Given the description of an element on the screen output the (x, y) to click on. 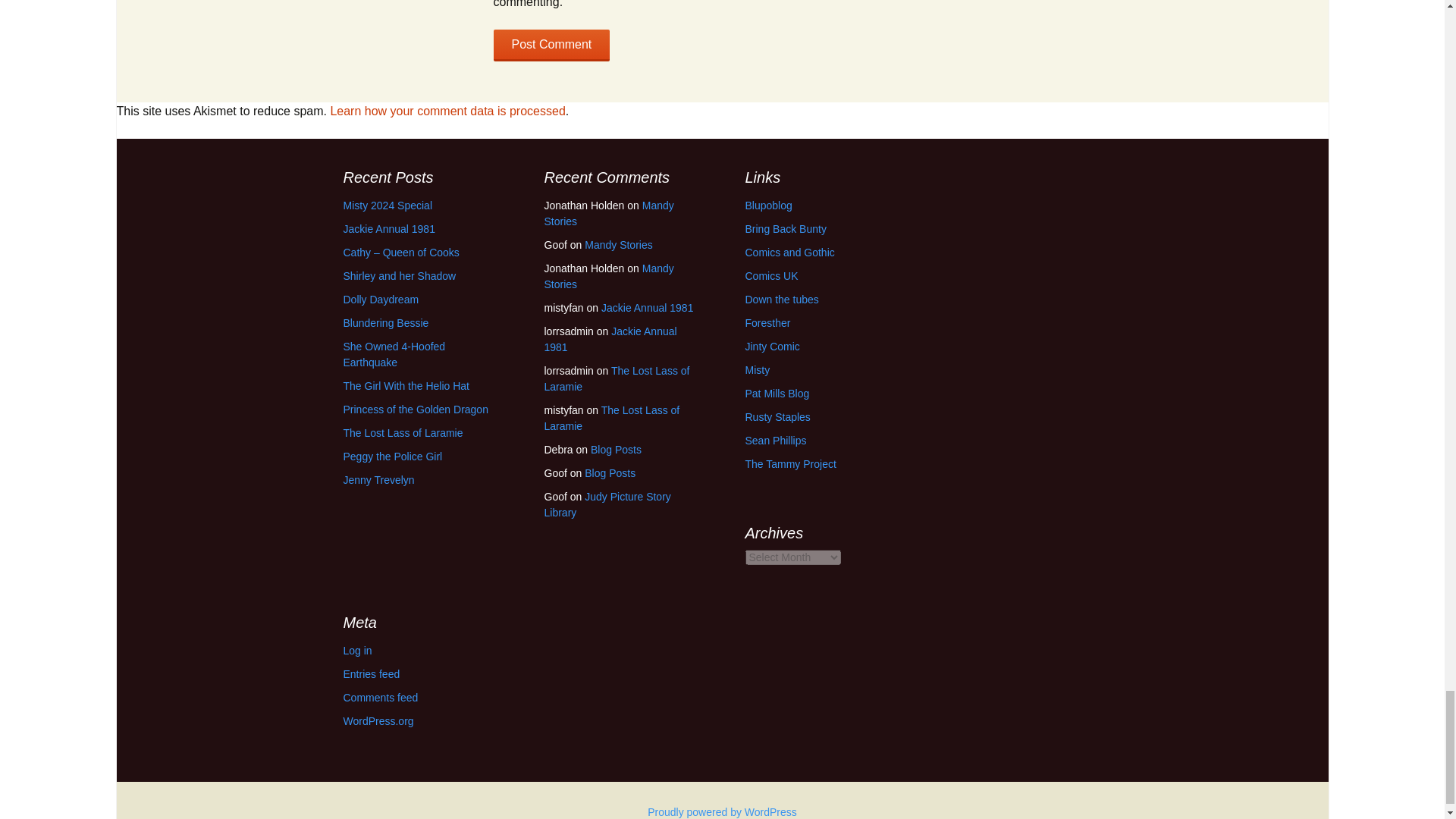
Blog about IPC published Tammy comic (789, 463)
Cool blog on girls comics  (768, 205)
Post Comment (551, 45)
A site dedicated to IPC comic Misty (757, 369)
Mike discusses british comics, including some family trees. (776, 417)
Judy artist blog (775, 440)
British comics forum (781, 299)
Pat Mills Writer of stories from Misty, Tammy and 2000AD (776, 393)
Resource guide to Jinty (771, 346)
